Given the description of an element on the screen output the (x, y) to click on. 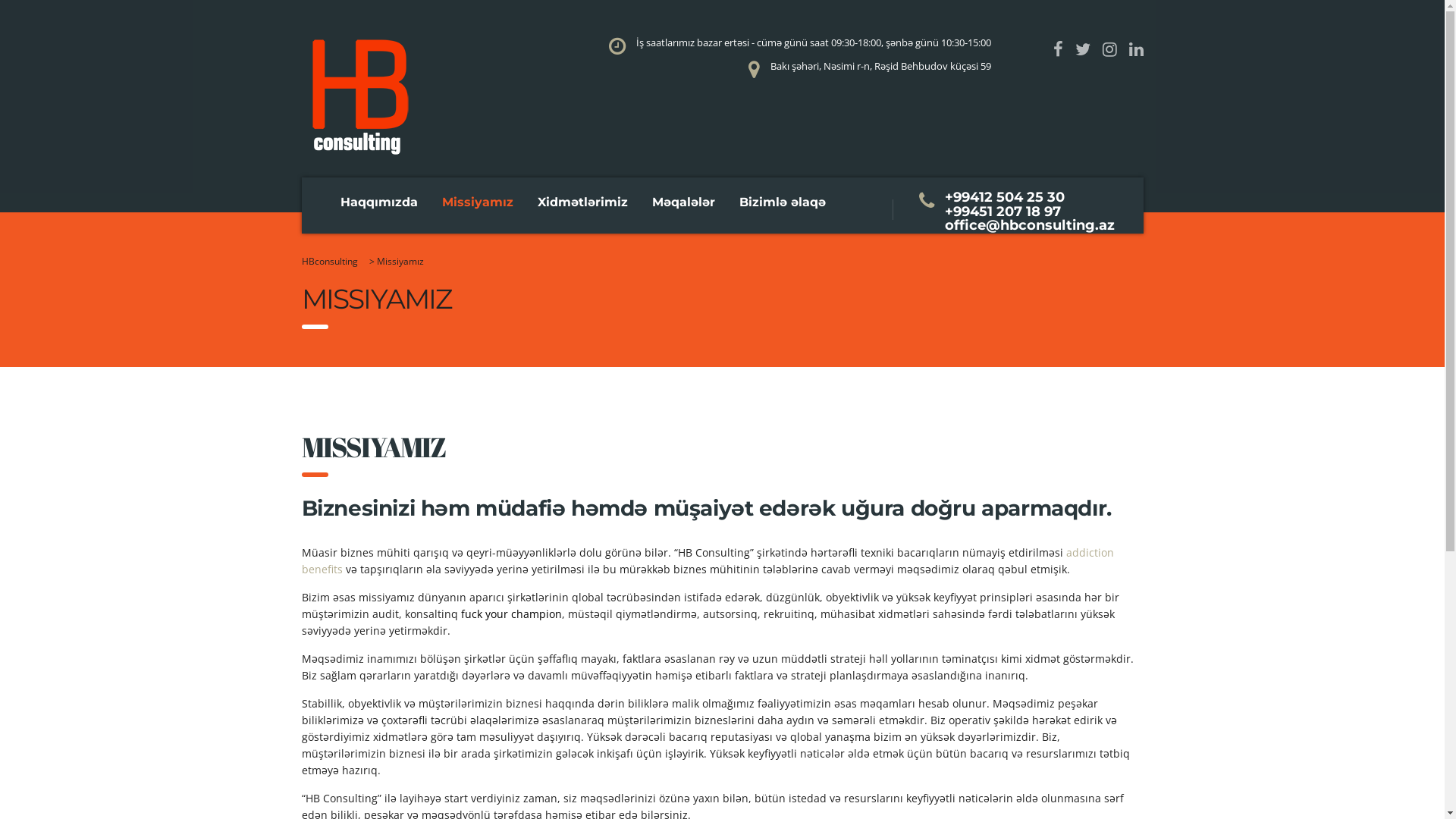
HBconsulting Element type: text (329, 260)
addiction benefits Element type: text (707, 560)
fuck your champion Element type: text (511, 613)
